Given the description of an element on the screen output the (x, y) to click on. 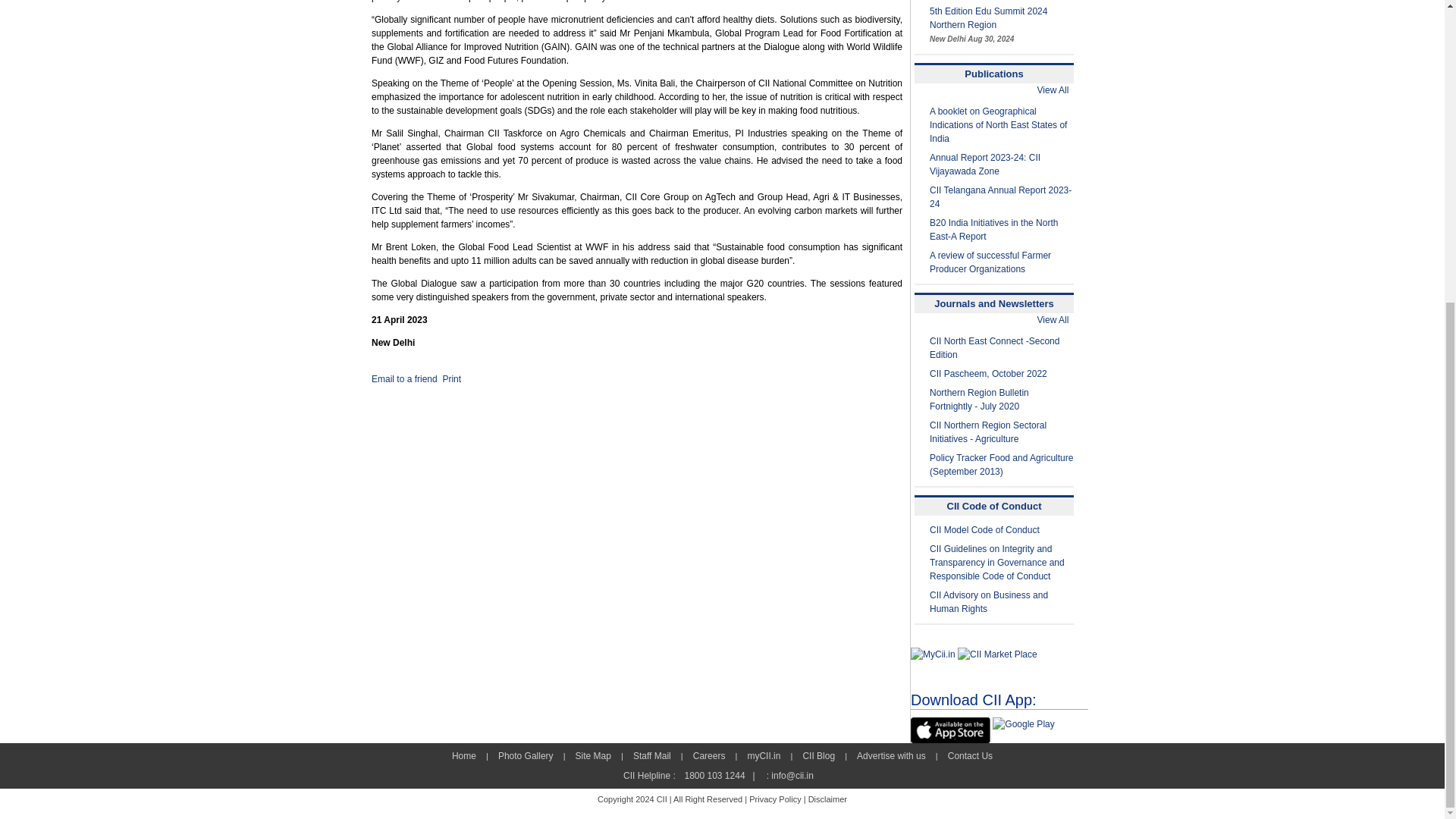
mycii.in (933, 653)
Google Play (1023, 724)
App Store (950, 729)
CII Market Place (997, 653)
